Given the description of an element on the screen output the (x, y) to click on. 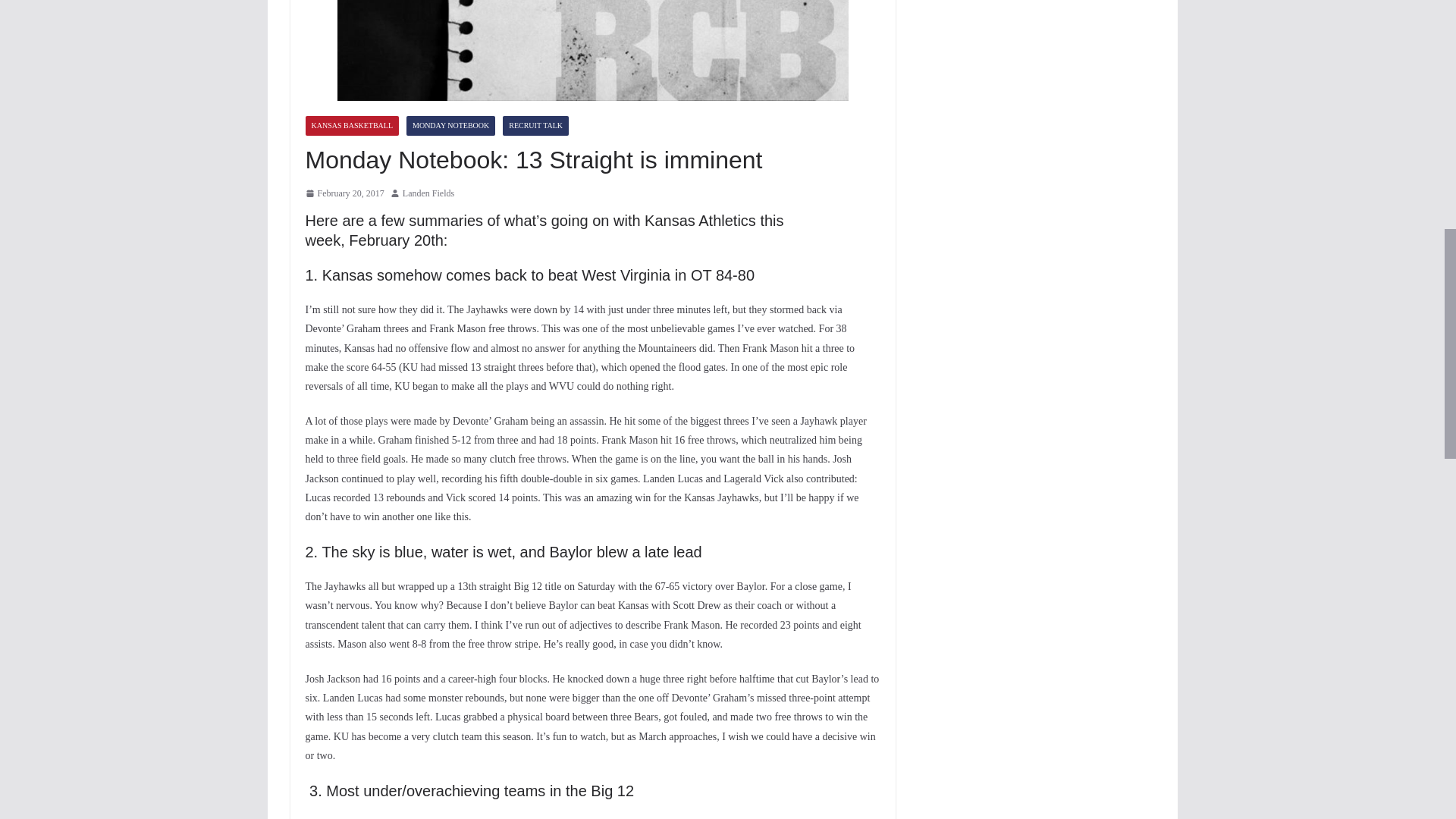
8:00 am (344, 193)
Landen Fields (428, 193)
RECRUIT TALK (535, 125)
Landen Fields (428, 193)
KANSAS BASKETBALL (351, 125)
MONDAY NOTEBOOK (450, 125)
February 20, 2017 (344, 193)
